Given the description of an element on the screen output the (x, y) to click on. 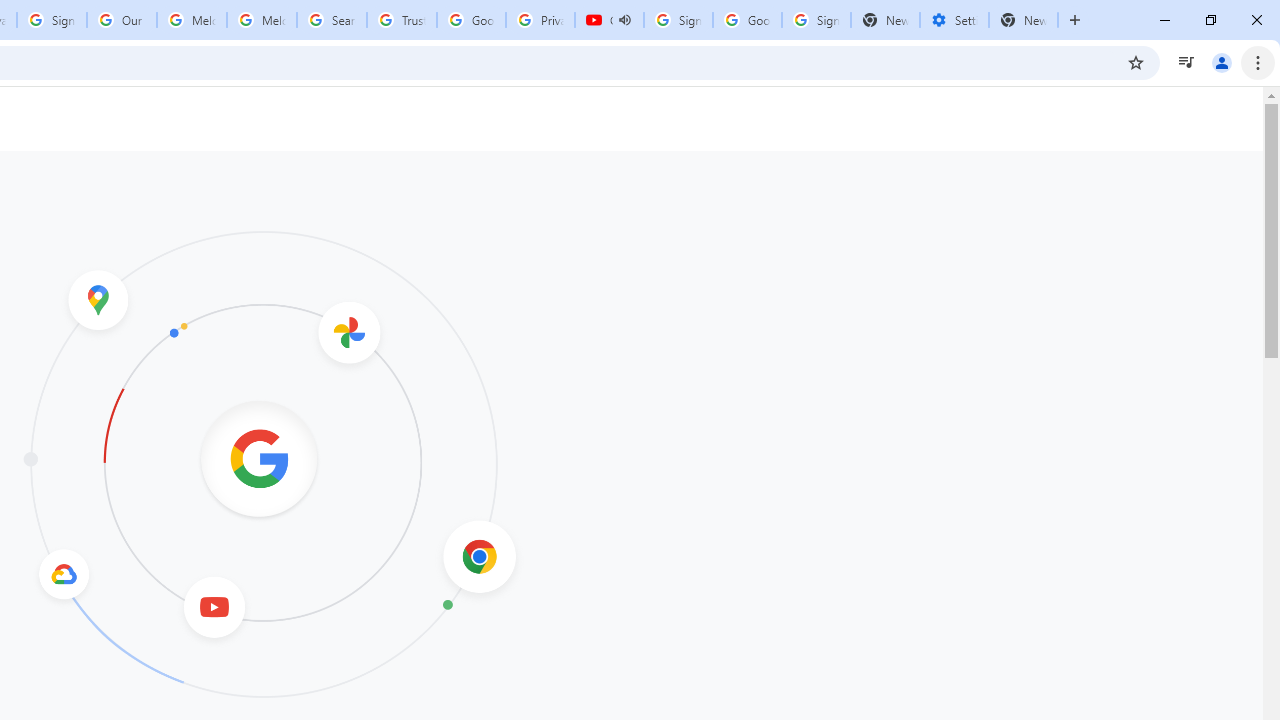
Sign in - Google Accounts (816, 20)
Google Ads - Sign in (470, 20)
Settings - Addresses and more (954, 20)
Search our Doodle Library Collection - Google Doodles (332, 20)
New Tab (1023, 20)
